Given the description of an element on the screen output the (x, y) to click on. 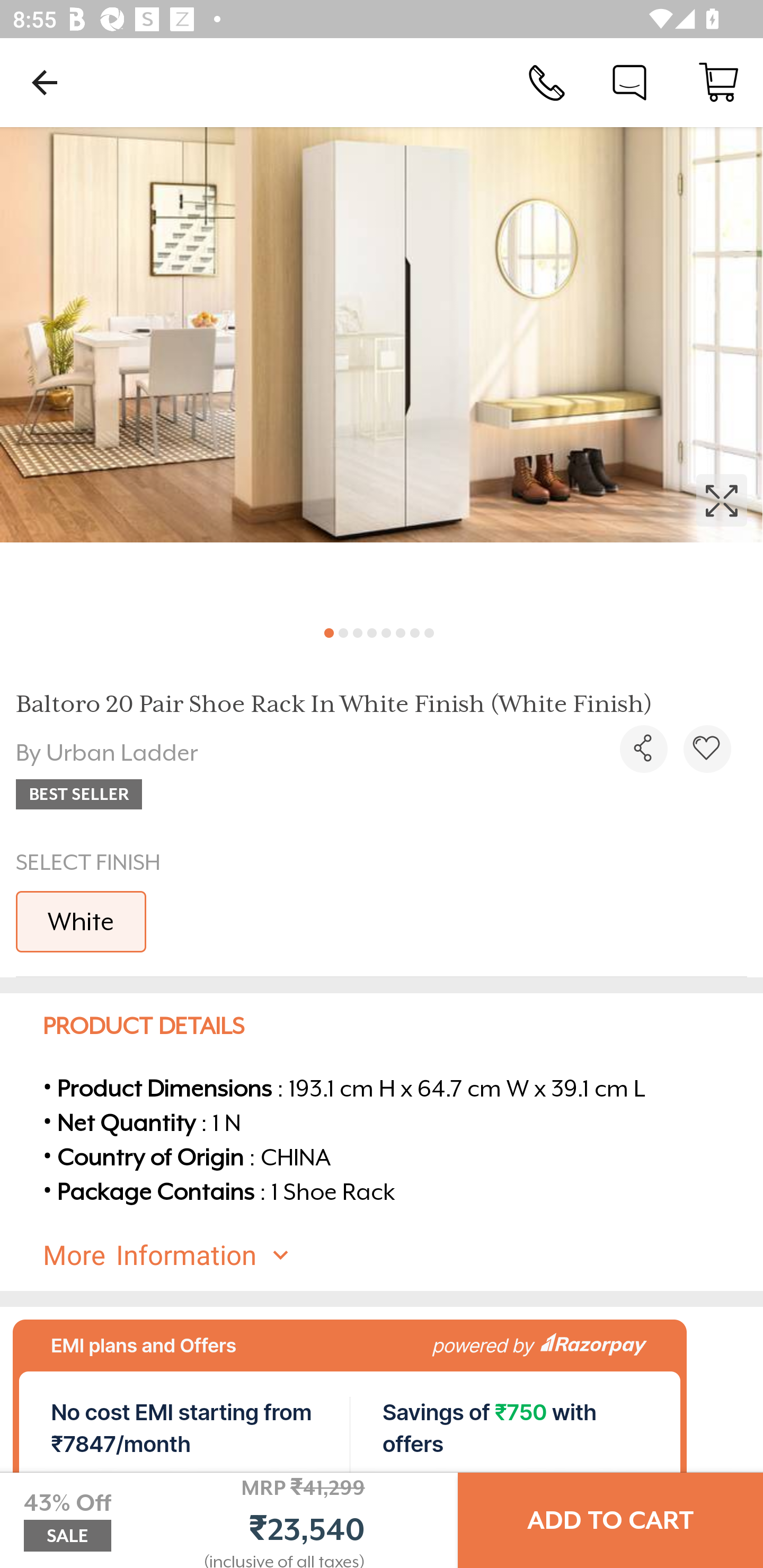
Navigate up (44, 82)
Call Us (546, 81)
Chat (629, 81)
Cart (718, 81)
 (381, 370)
 (643, 748)
 (706, 748)
White (81, 920)
More Information  (396, 1255)
ADD TO CART (610, 1520)
